Given the description of an element on the screen output the (x, y) to click on. 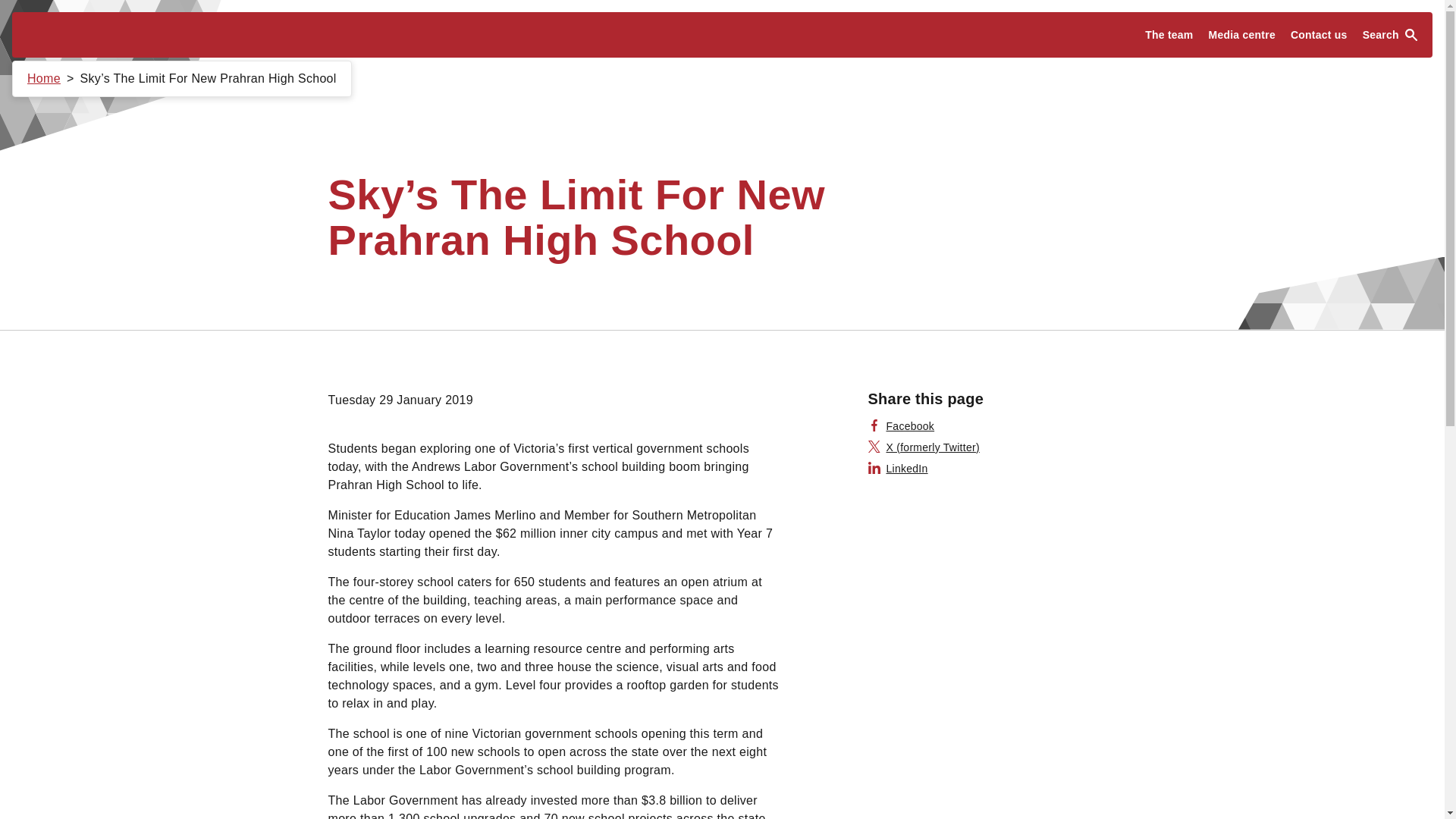
The team (1168, 34)
Facebook (900, 426)
Contact us (1318, 34)
Home (44, 78)
Media centre (1241, 34)
LinkedIn (897, 468)
